Given the description of an element on the screen output the (x, y) to click on. 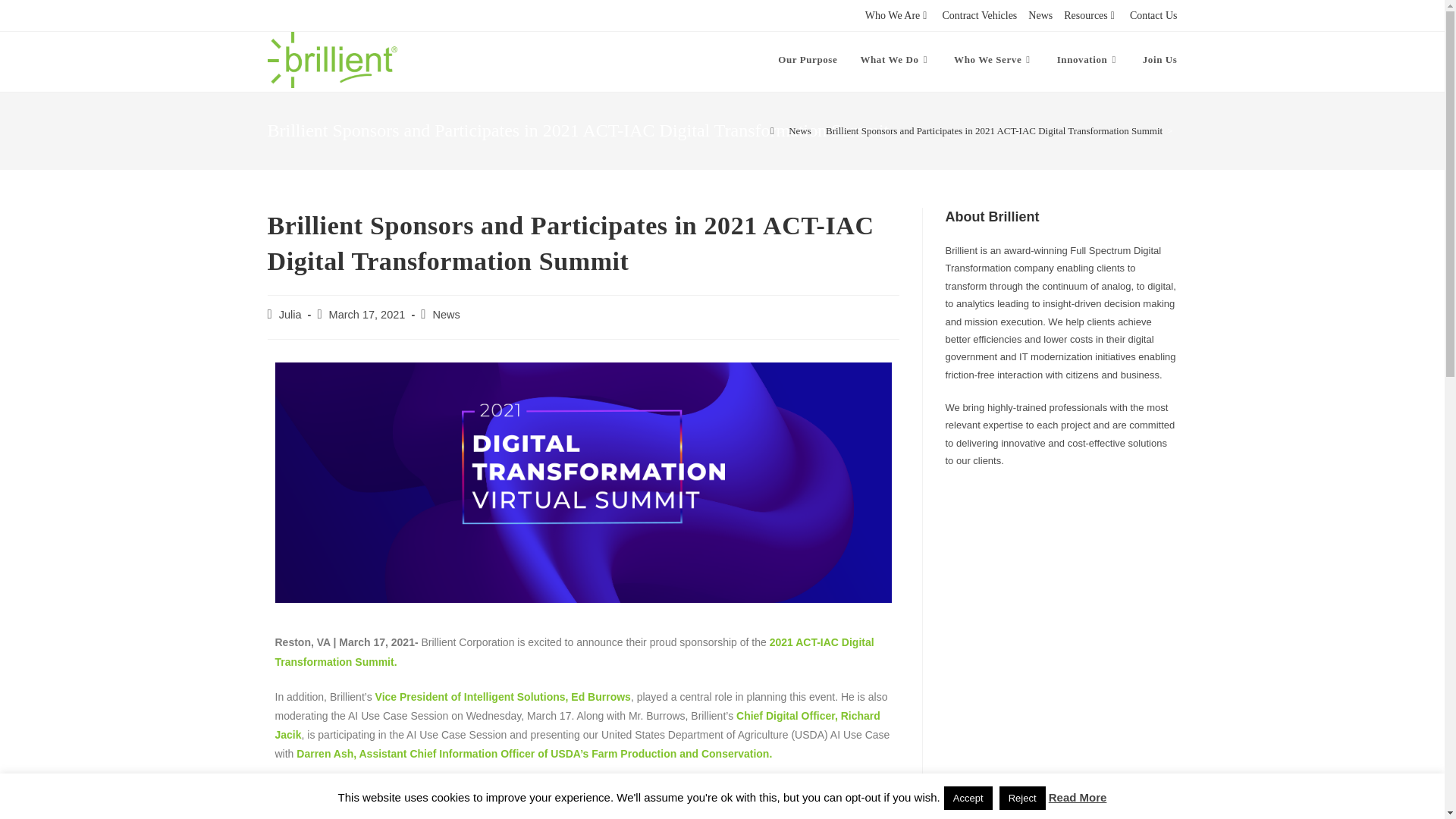
Who We Serve (993, 59)
Posts by Julia (290, 314)
News (1039, 15)
Join Us (1160, 59)
Contract Vehicles (979, 15)
Innovation (1088, 59)
What We Do (895, 59)
Our Purpose (807, 59)
Resources (1091, 15)
Contact Us (1153, 15)
Who We Are (897, 15)
